Given the description of an element on the screen output the (x, y) to click on. 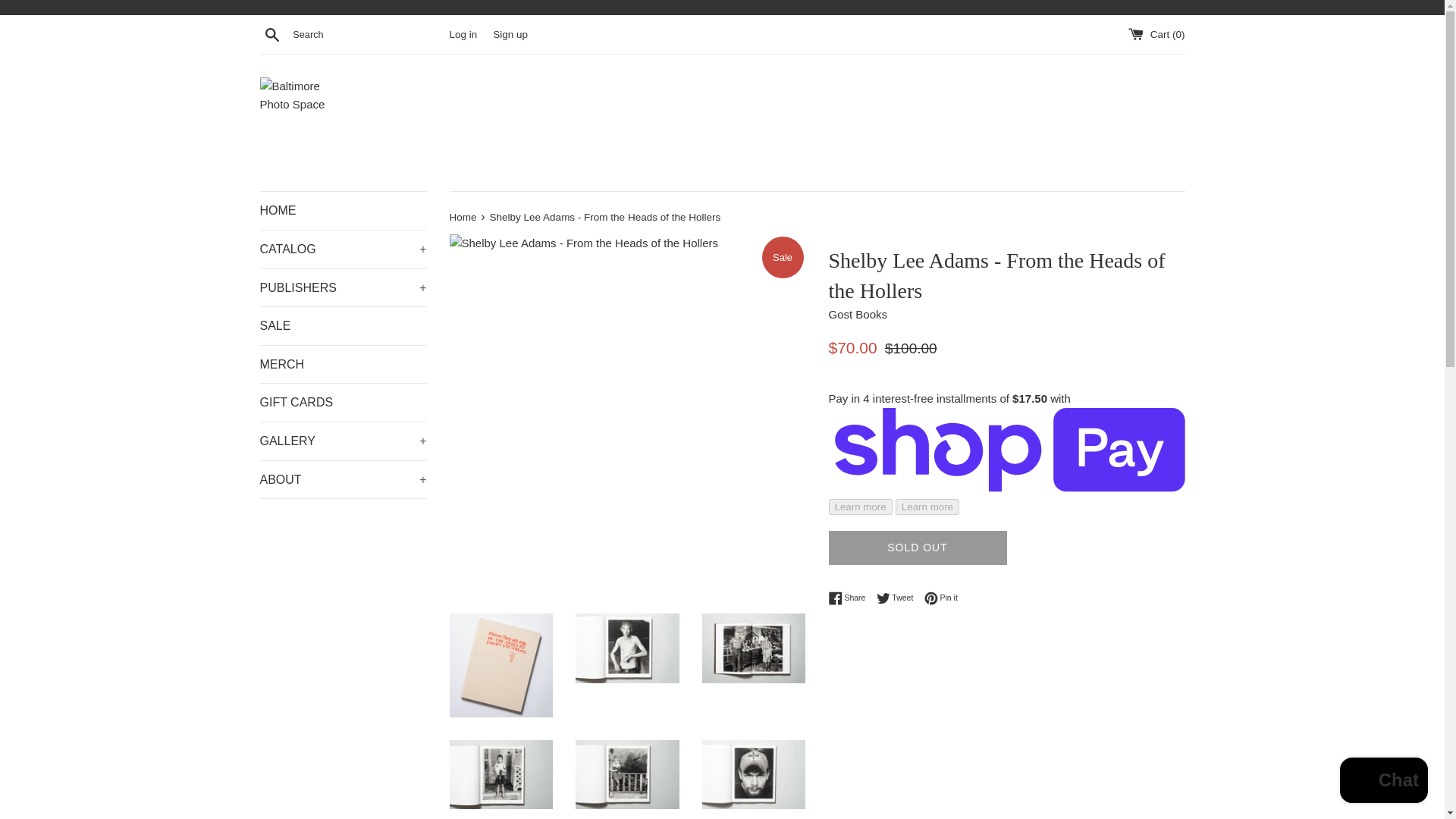
Sign up (510, 34)
Shopify online store chat (1383, 781)
SALE (342, 325)
Share on Facebook (850, 598)
Pin on Pinterest (941, 598)
Search (271, 34)
Log in (462, 34)
Tweet on Twitter (898, 598)
Back to the frontpage (463, 216)
GIFT CARDS (342, 402)
